Given the description of an element on the screen output the (x, y) to click on. 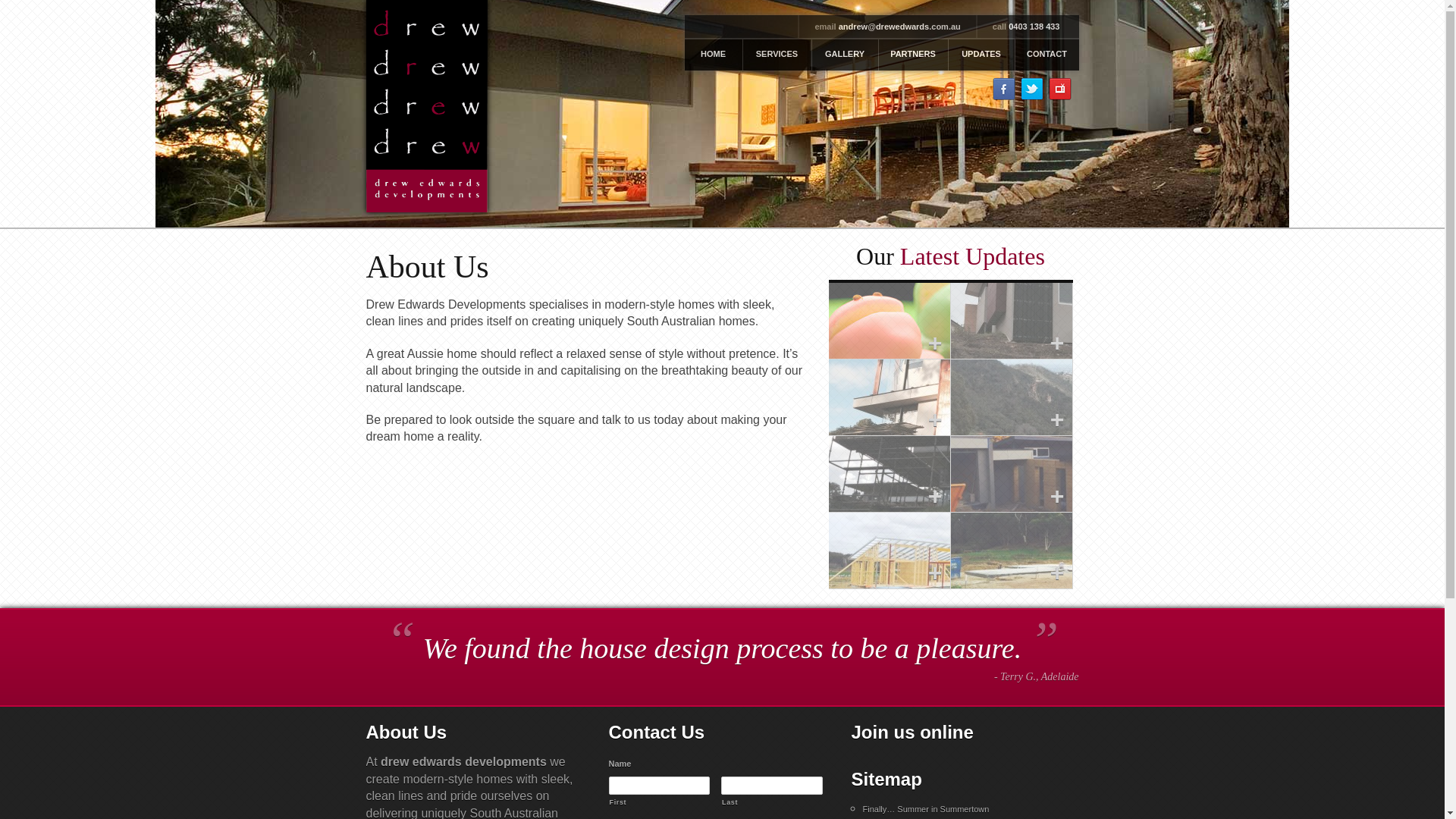
UPDATES Element type: text (981, 54)
Watch us on YouTube Element type: text (1059, 89)
Follow us on Twitter Element type: text (1031, 89)
+ Element type: text (888, 397)
+ Element type: text (888, 473)
+ Element type: text (1011, 550)
Like us on Facebook Element type: text (1002, 89)
+ Element type: text (888, 550)
HOME Element type: text (713, 54)
PARTNERS Element type: text (913, 54)
+ Element type: text (1011, 473)
0403 138 433 Element type: text (1033, 26)
GALLERY Element type: text (844, 54)
+ Element type: text (1011, 320)
CONTACT Element type: text (1046, 54)
SERVICES Element type: text (776, 54)
andrew@drewedwards.com.au Element type: text (899, 26)
Latest Updates Element type: text (972, 255)
+ Element type: text (888, 320)
+ Element type: text (1011, 397)
